Given the description of an element on the screen output the (x, y) to click on. 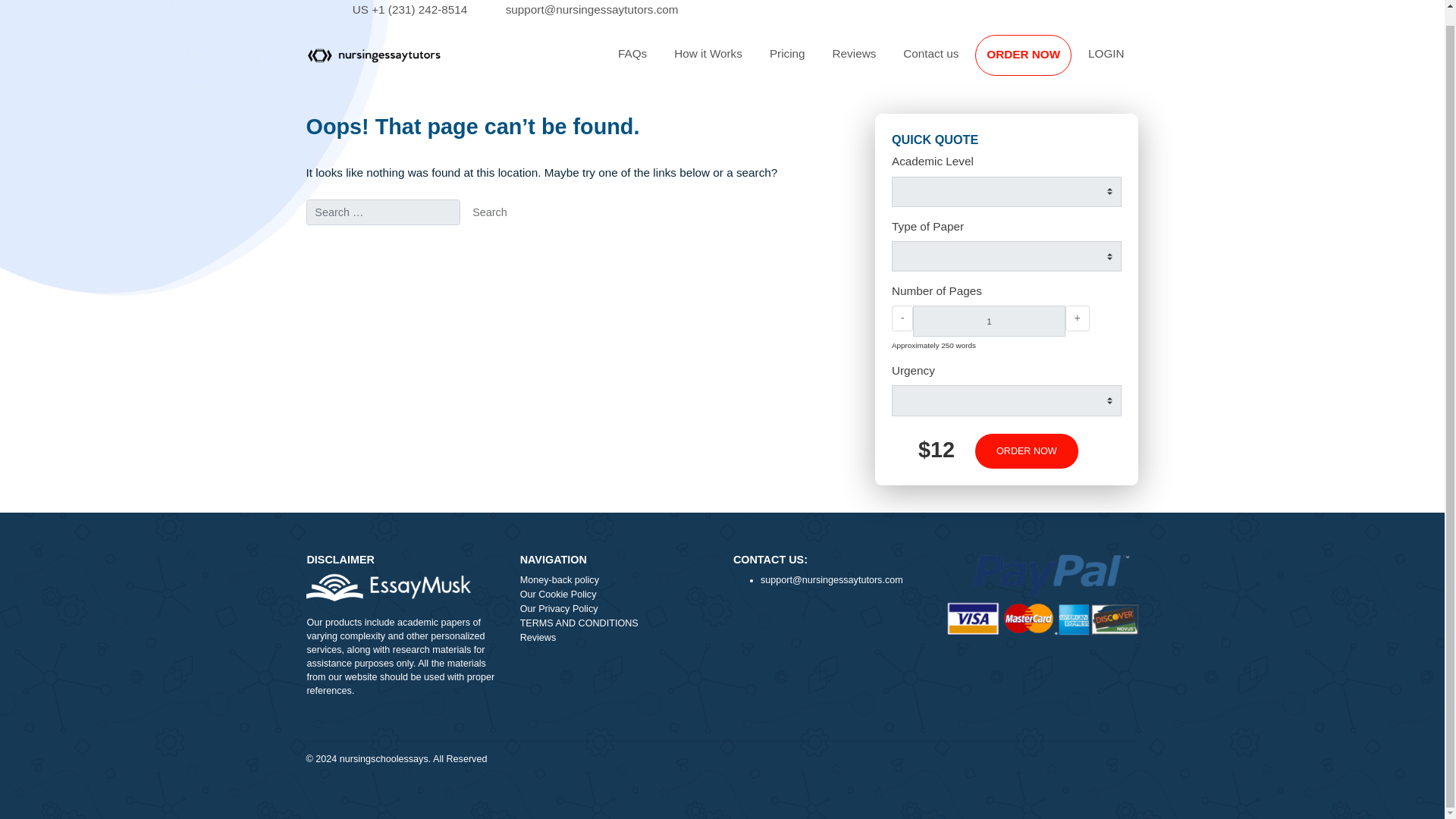
Search for: (425, 236)
LOGIN (1229, 61)
FAQs (702, 61)
Reviews (948, 61)
Money-back policy (685, 647)
ORDER NOW (1140, 502)
Reviews (685, 710)
Contact us (1034, 61)
ORDER NOW (1137, 62)
Reviews (948, 61)
